Given the description of an element on the screen output the (x, y) to click on. 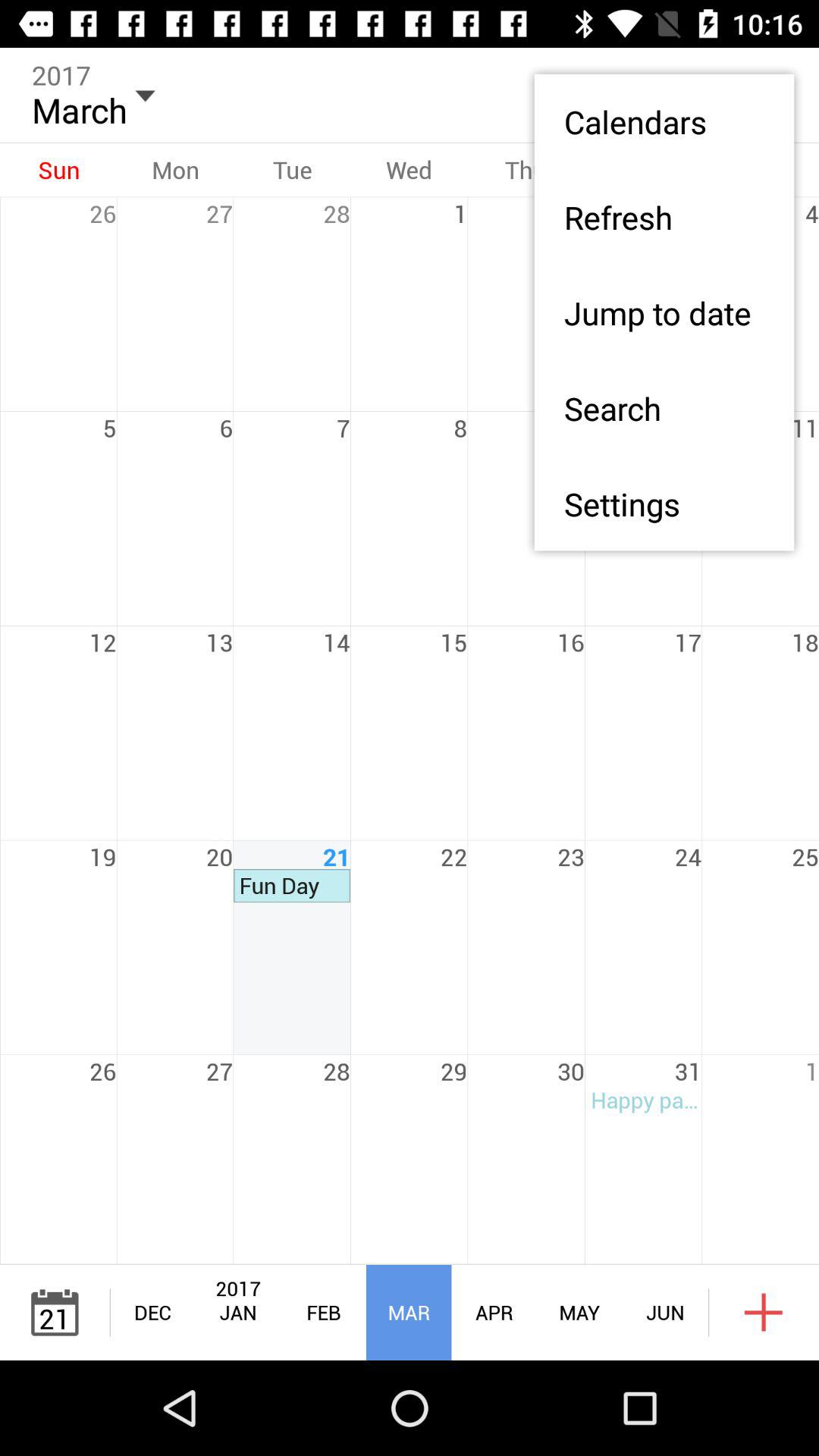
press search (664, 408)
